Given the description of an element on the screen output the (x, y) to click on. 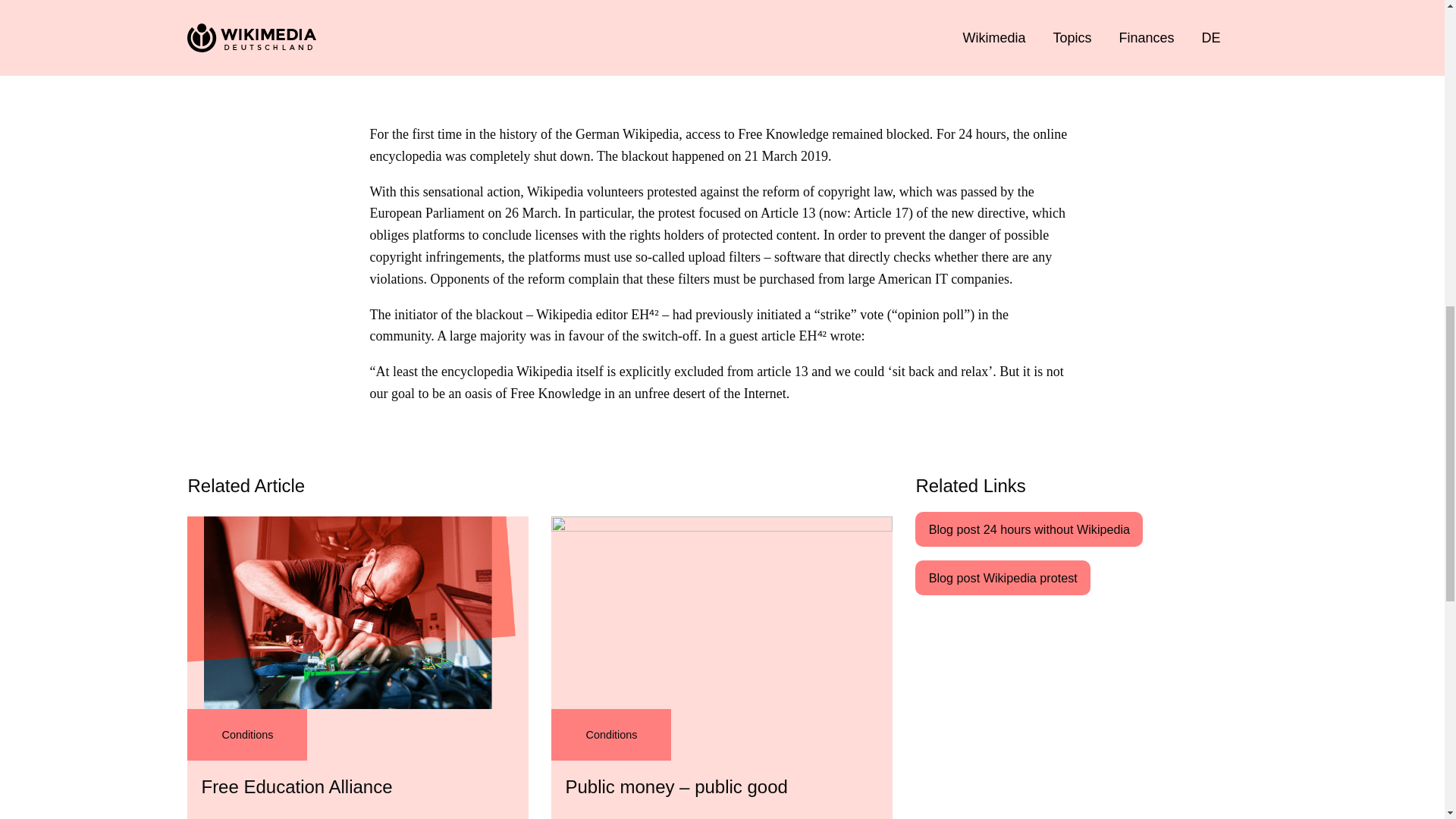
Blog post Wikipedia protest (1002, 577)
Blog post 24 hours without Wikipedia (357, 667)
